Given the description of an element on the screen output the (x, y) to click on. 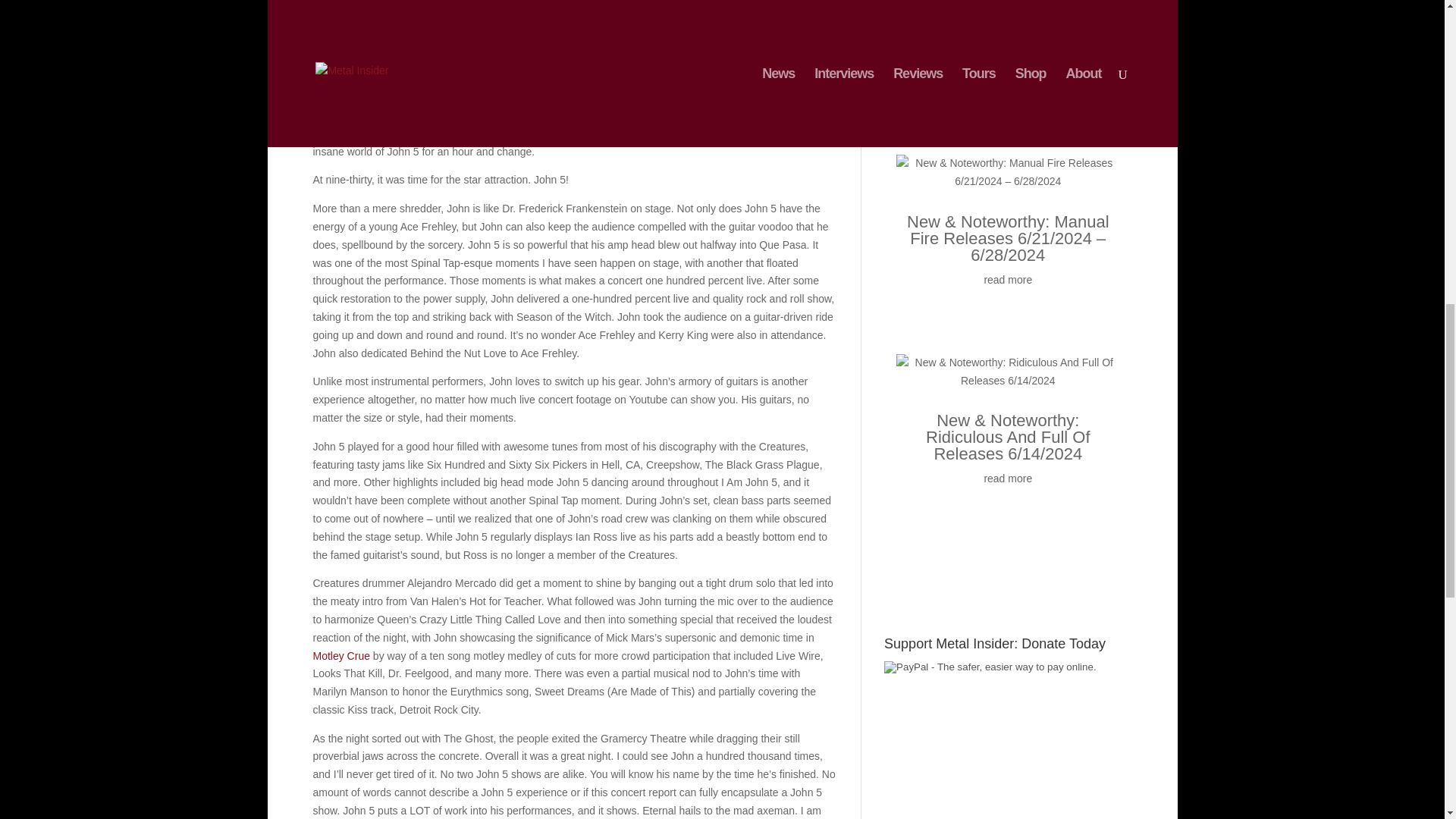
read more (1007, 280)
read more (1007, 479)
Motley Crue (341, 654)
read more (1007, 81)
